Given the description of an element on the screen output the (x, y) to click on. 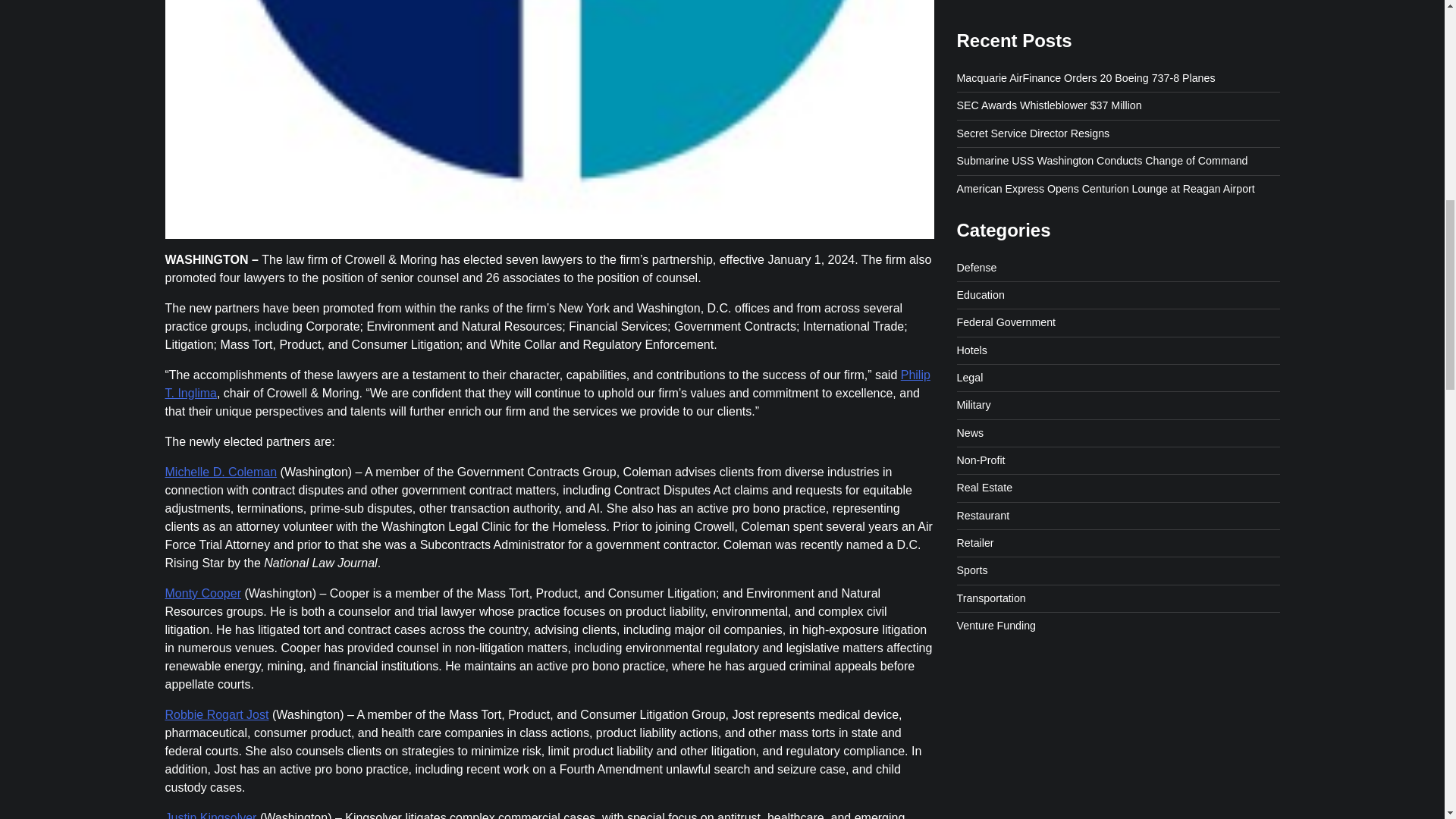
Justin Kingsolver (211, 815)
Monty Cooper (203, 593)
Philip T. Inglima (547, 383)
Robbie Rogart Jost (217, 714)
Michelle D. Coleman (221, 472)
